Given the description of an element on the screen output the (x, y) to click on. 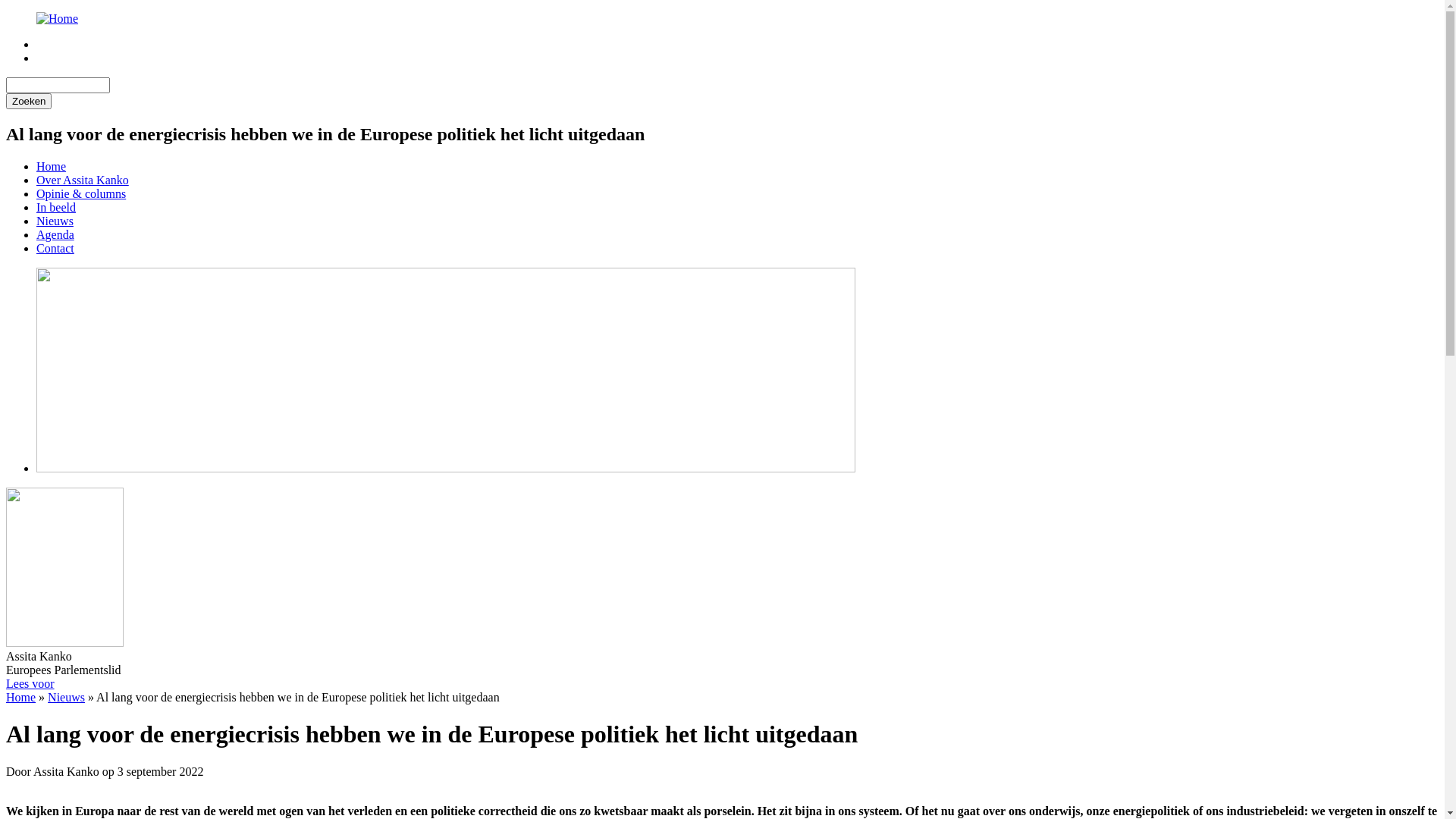
Geef de woorden op waarnaar u wilt zoeken. Element type: hover (57, 85)
Zoeken Element type: text (28, 101)
Nieuws Element type: text (54, 220)
Lees voor Element type: text (30, 683)
Over Assita Kanko Element type: text (82, 179)
Opinie & columns Element type: text (80, 193)
Home Element type: text (50, 166)
Home Element type: text (20, 696)
In beeld Element type: text (55, 206)
Nieuws Element type: text (65, 696)
Agenda Element type: text (55, 234)
Home Element type: hover (57, 18)
Contact Element type: text (55, 247)
